Given the description of an element on the screen output the (x, y) to click on. 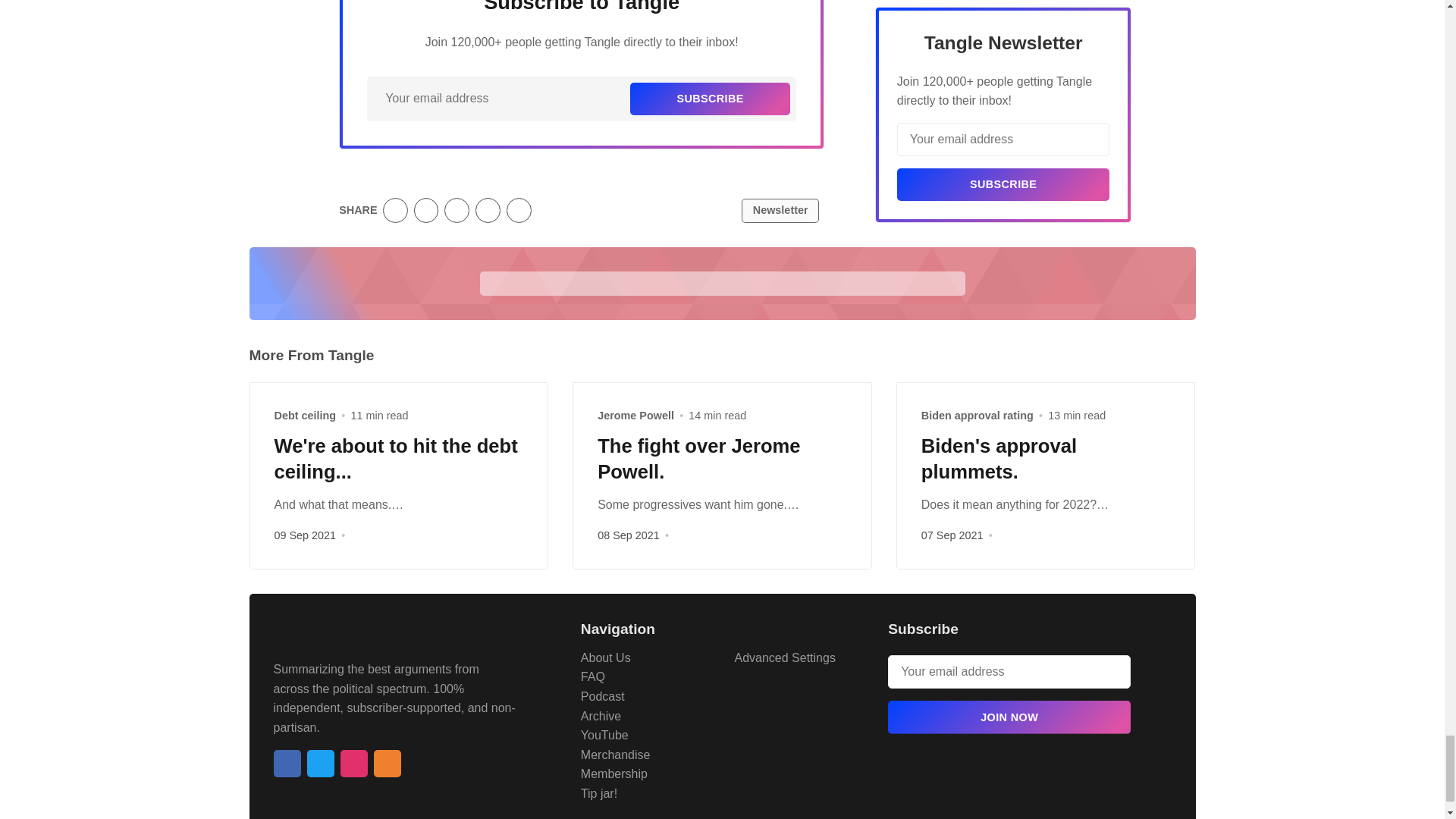
Copy to clipboard (518, 210)
Instagram (352, 763)
Share on Facebook (426, 210)
Facebook (286, 763)
Twitter (319, 763)
Share on Linkedin (456, 210)
Share by email (488, 210)
RSS (386, 763)
Share on Twitter (394, 210)
